Given the description of an element on the screen output the (x, y) to click on. 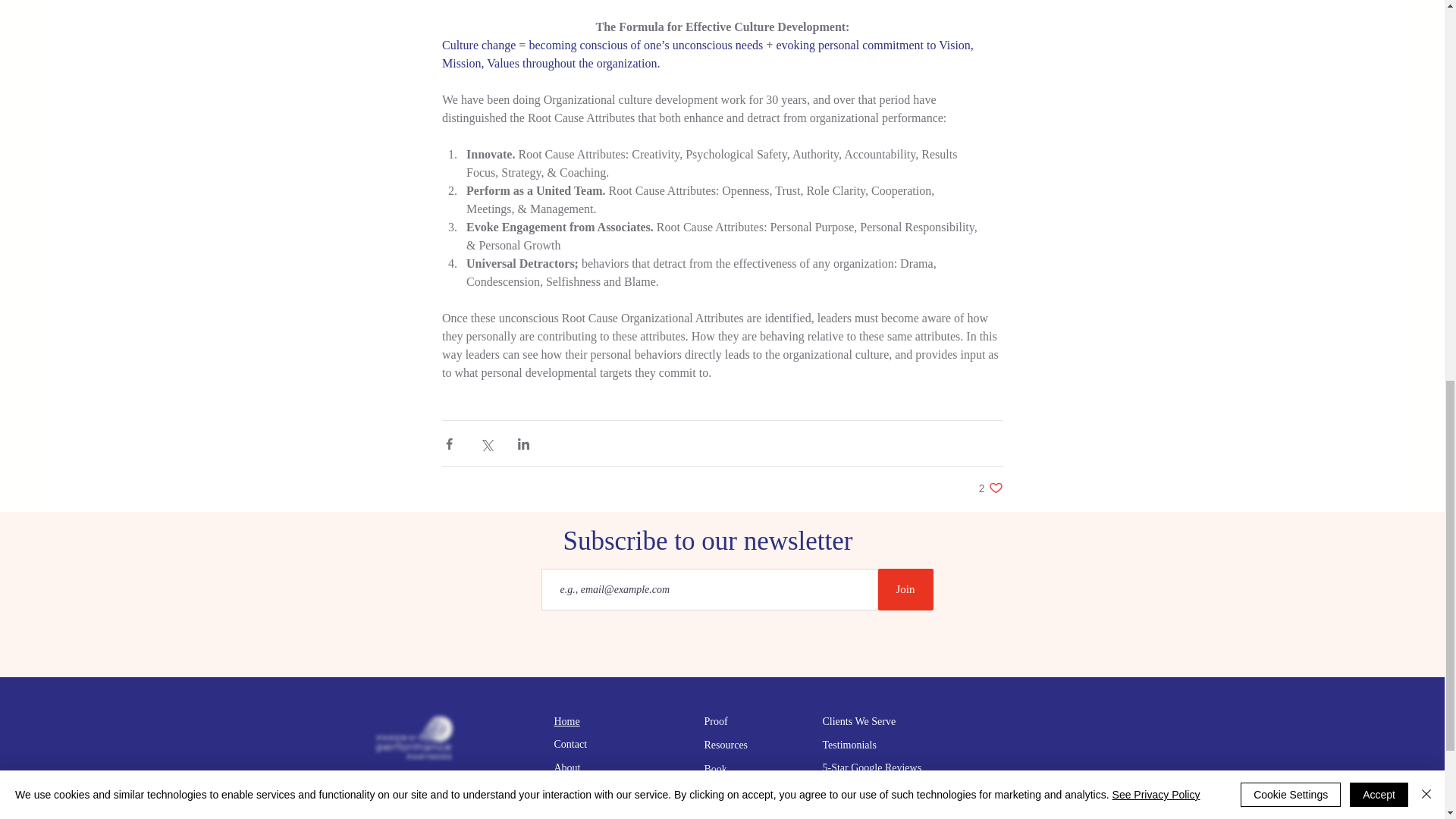
Testimonials (849, 745)
About (566, 767)
5-Star Google Reviews (871, 767)
Cultural Transformation (604, 790)
Home (566, 721)
Resources (725, 745)
Book (990, 487)
Join (714, 768)
Proof (905, 589)
Contact (714, 721)
Clients We Serve (569, 744)
